Given the description of an element on the screen output the (x, y) to click on. 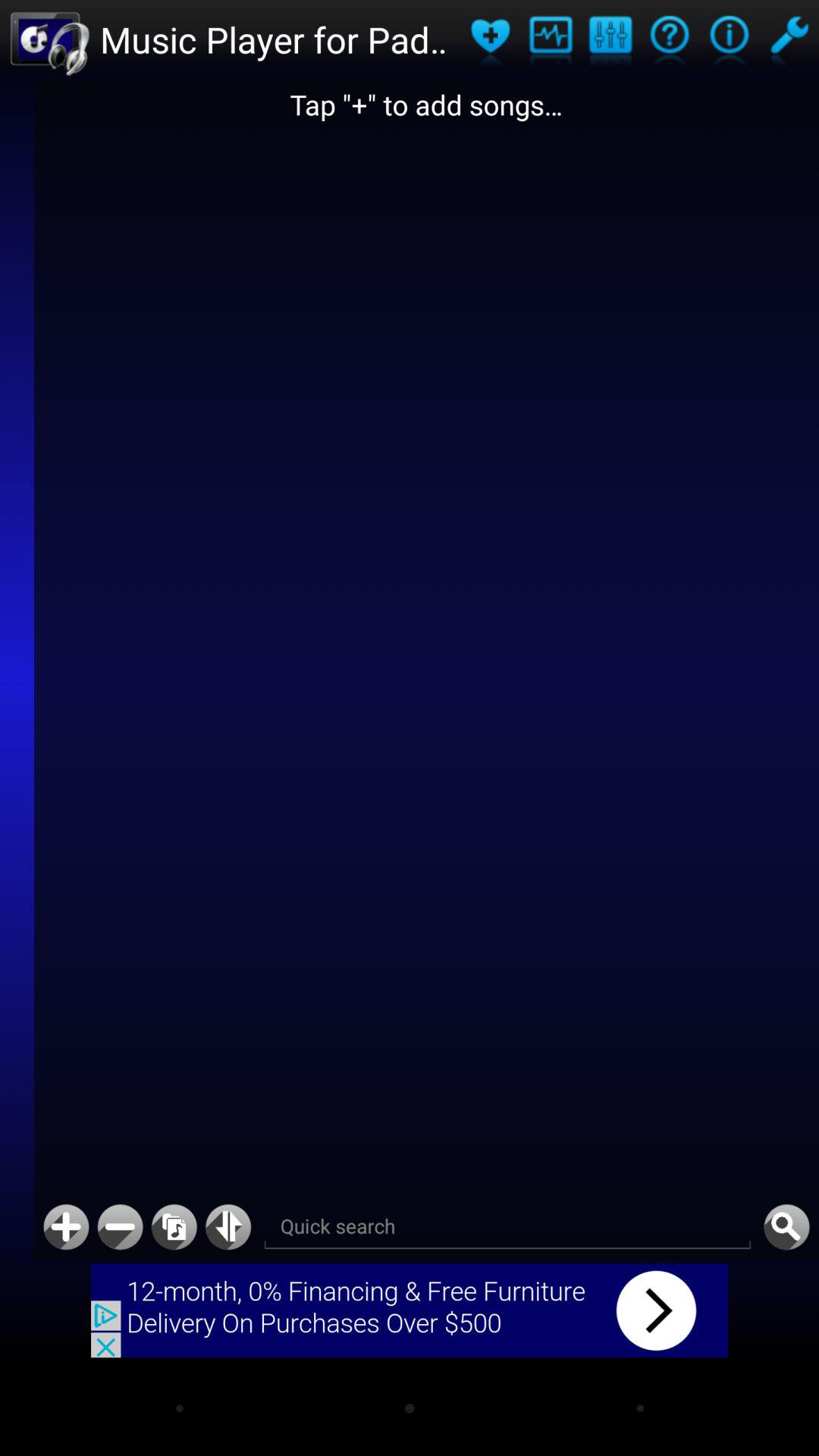
open bluetooth settings (228, 1226)
